Given the description of an element on the screen output the (x, y) to click on. 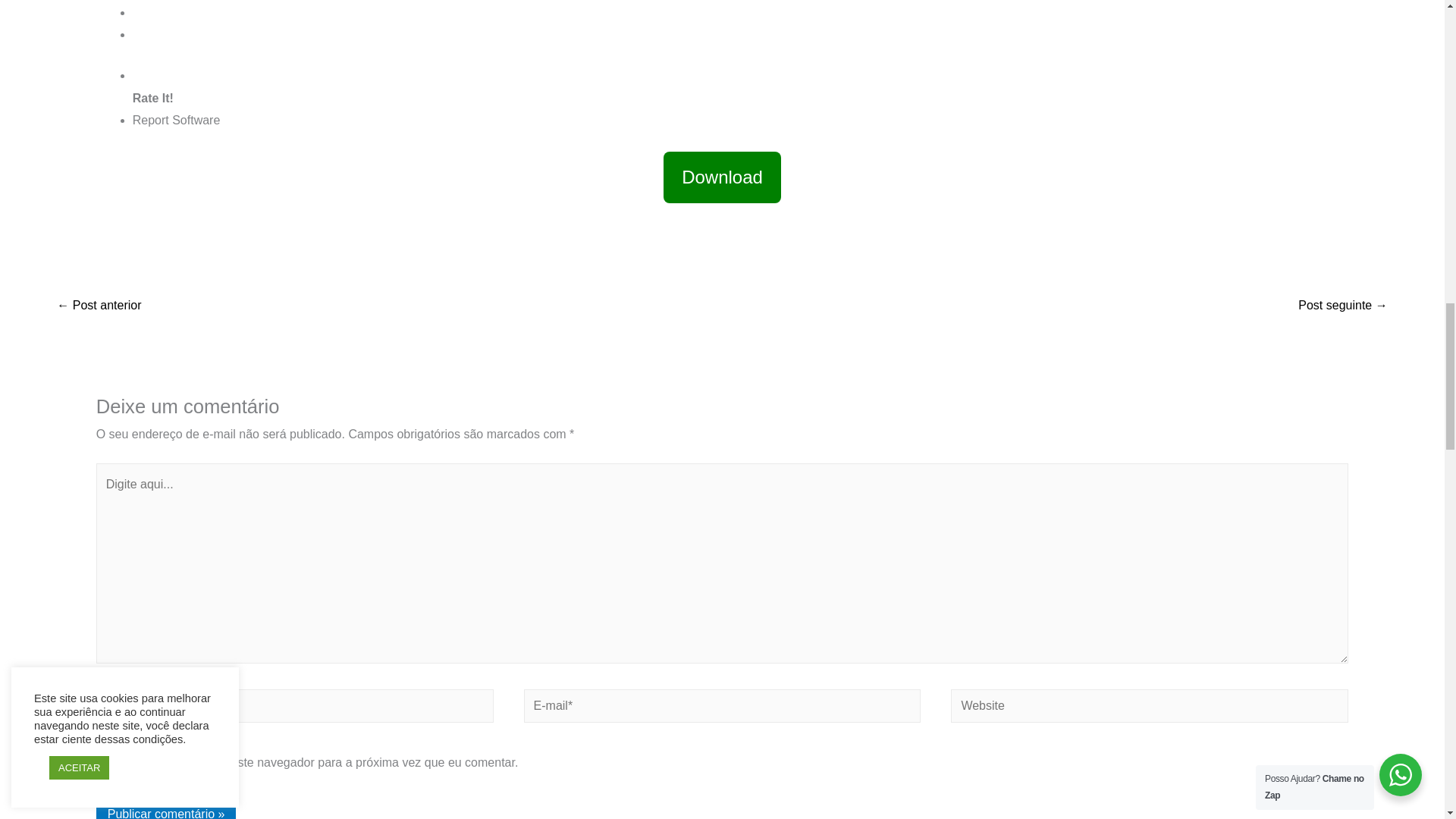
Download (721, 177)
Download (721, 178)
yes (101, 761)
